Given the description of an element on the screen output the (x, y) to click on. 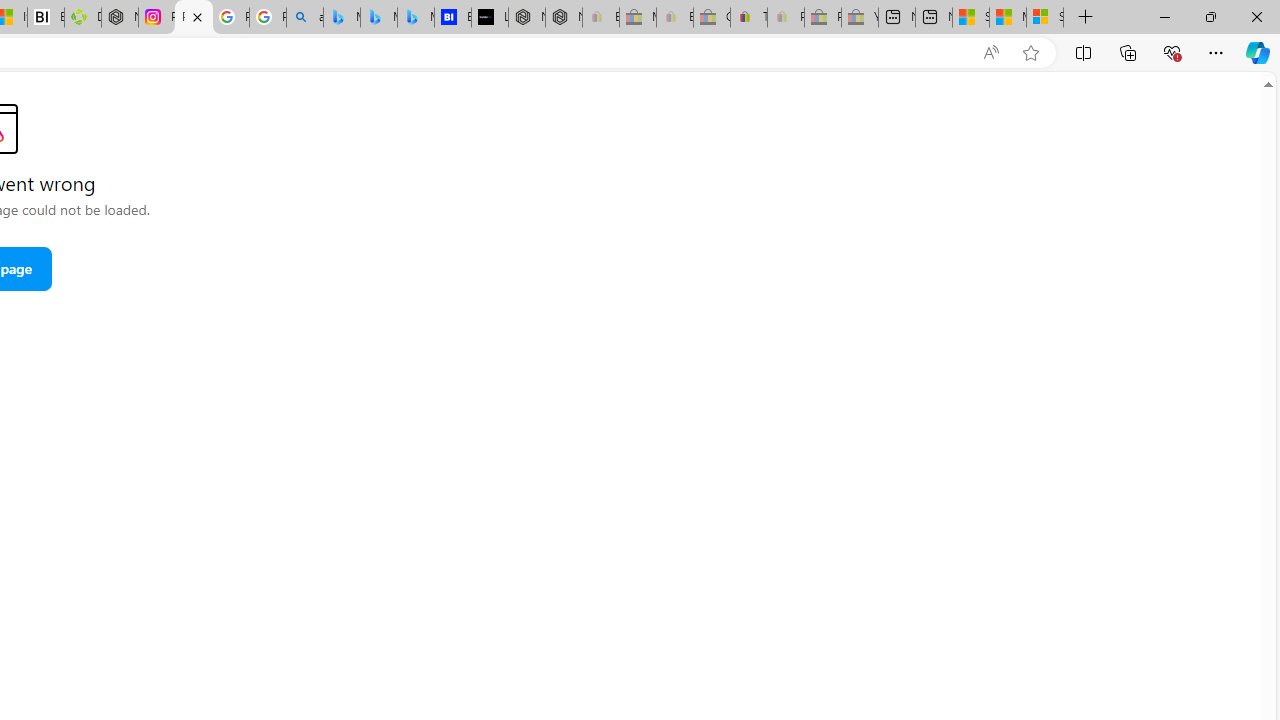
Microsoft Bing Travel - Flights from Hong Kong to Bangkok (341, 17)
Descarga Driver Updater (83, 17)
Threats and offensive language policy | eBay (748, 17)
